Given the description of an element on the screen output the (x, y) to click on. 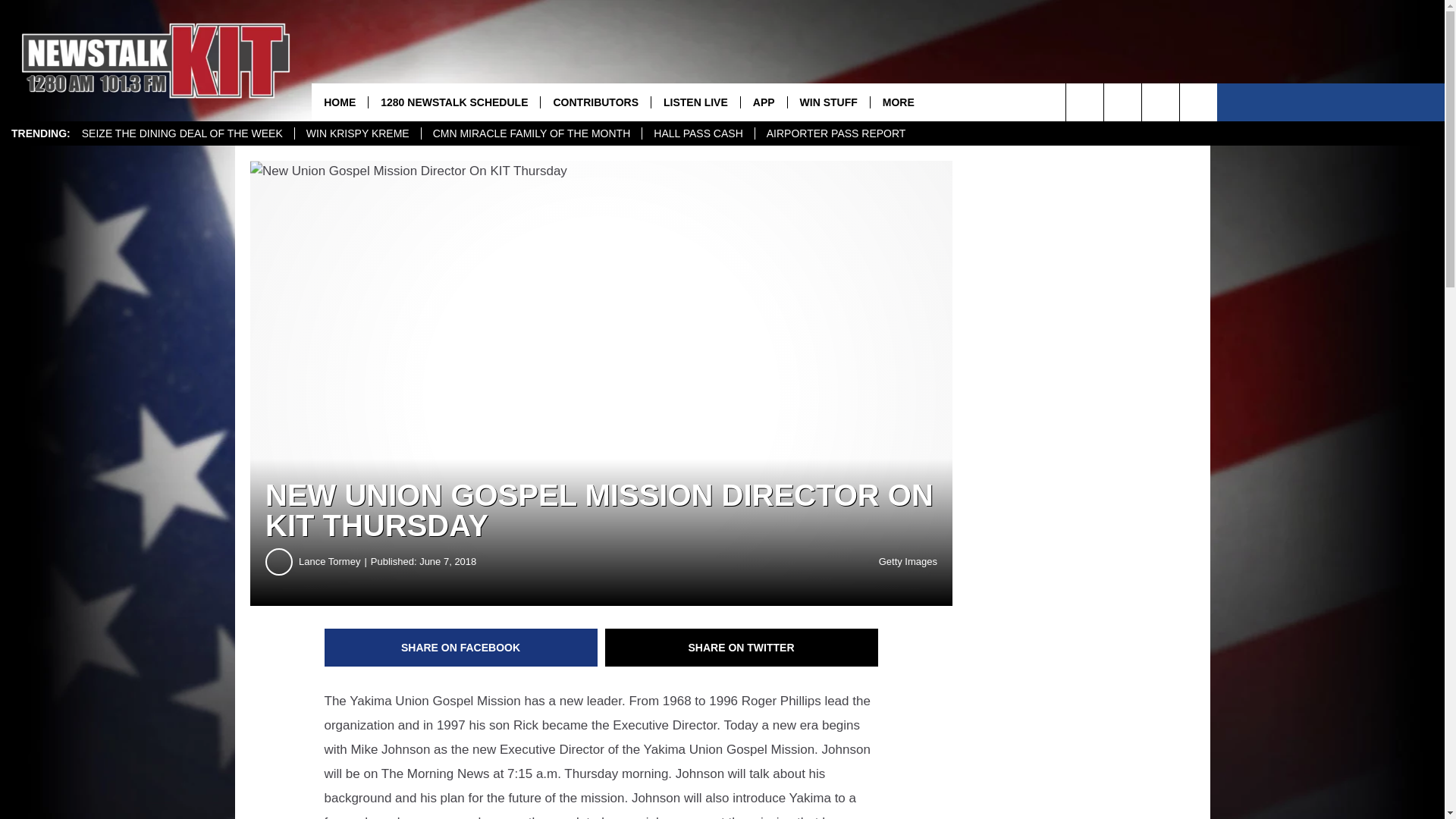
CONTRIBUTORS (595, 102)
SEIZE THE DINING DEAL OF THE WEEK (181, 133)
WIN KRISPY KREME (357, 133)
HALL PASS CASH (698, 133)
Share on Facebook (460, 647)
WIN STUFF (828, 102)
AIRPORTER PASS REPORT (835, 133)
LISTEN LIVE (694, 102)
Share on Twitter (741, 647)
1280 NEWSTALK SCHEDULE (454, 102)
